Given the description of an element on the screen output the (x, y) to click on. 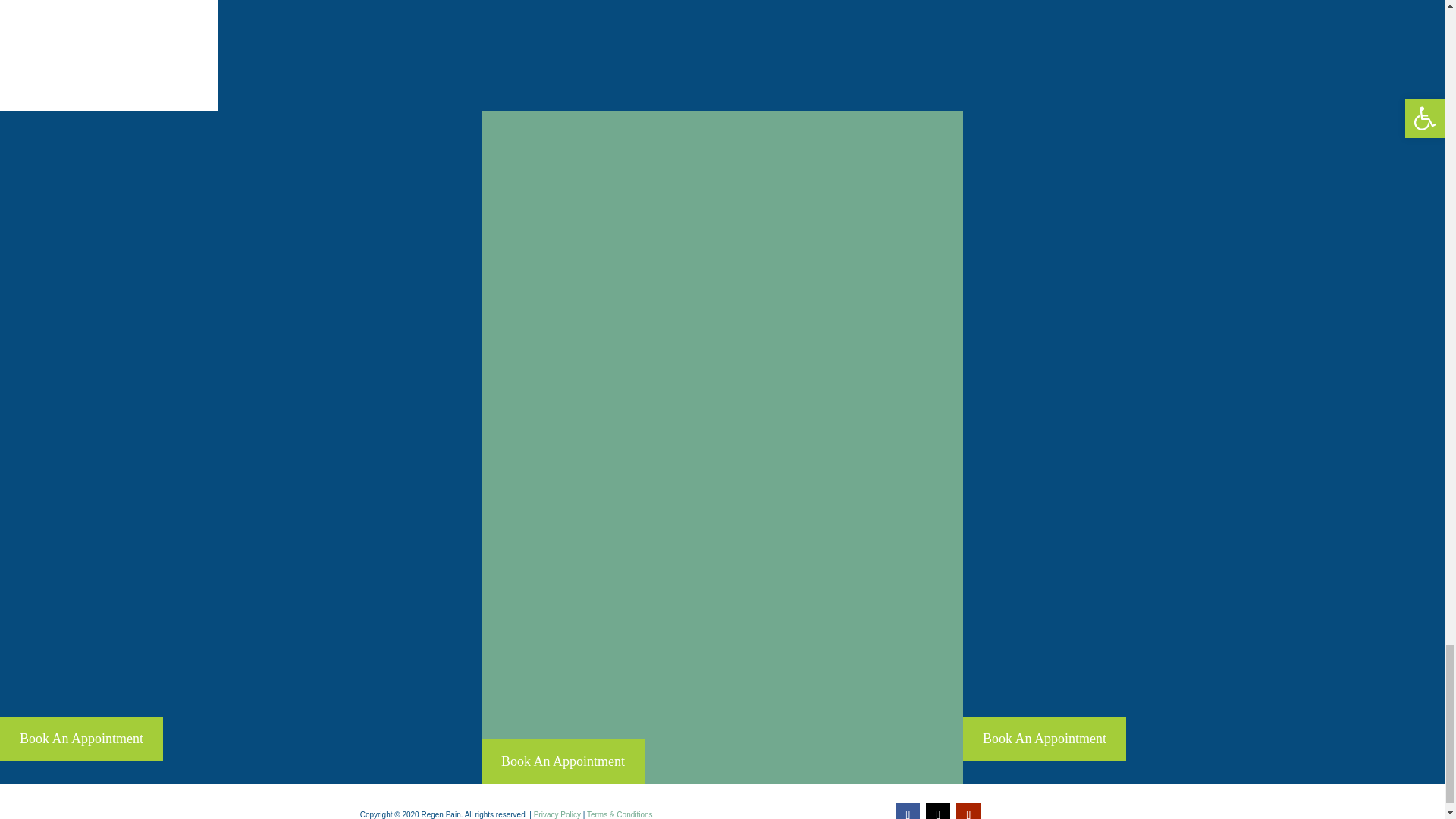
Follow on Facebook (907, 811)
Follow on X (938, 811)
Follow on Youtube (967, 811)
